Given the description of an element on the screen output the (x, y) to click on. 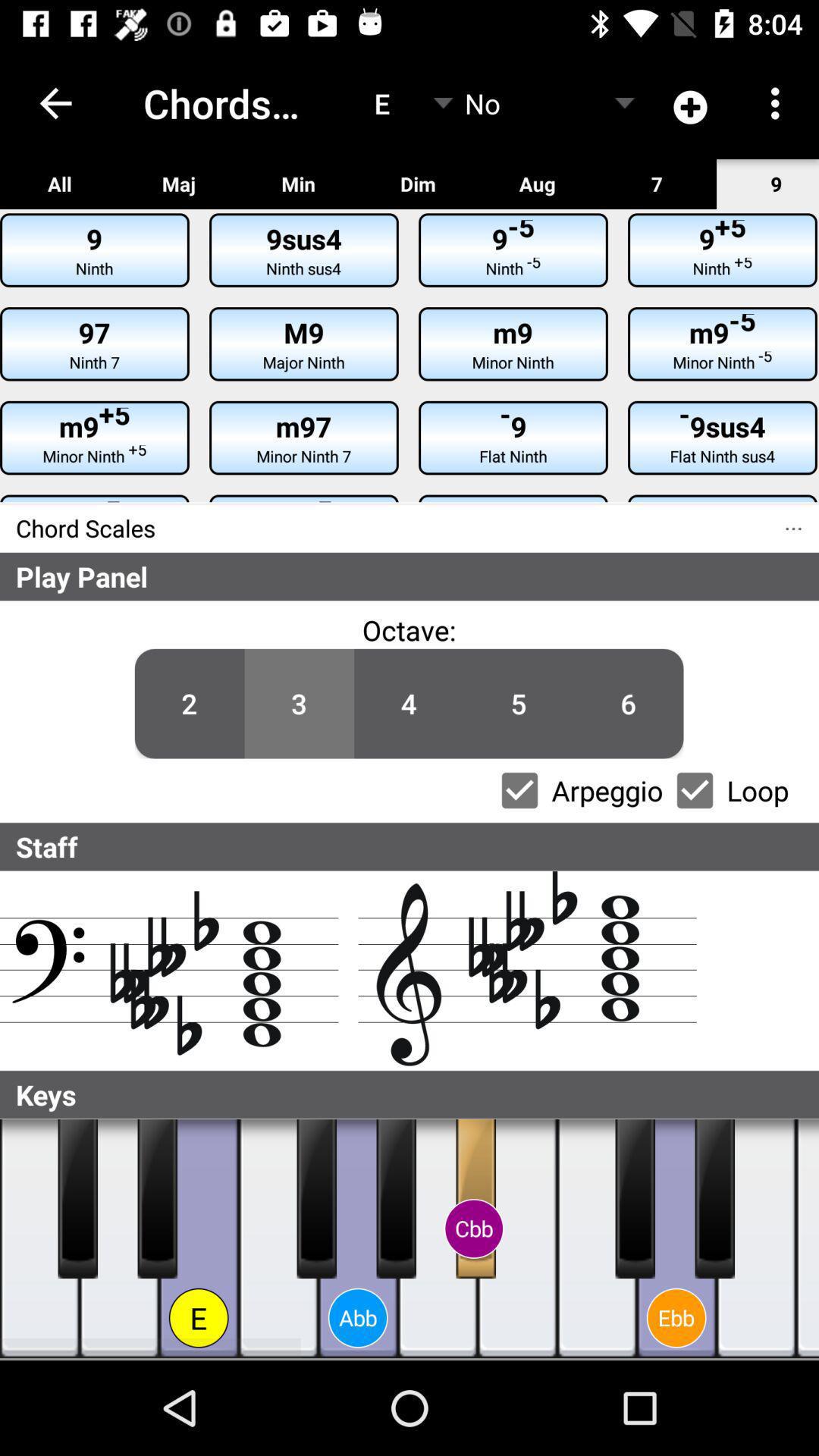
turn on the item to the right of 5 icon (628, 703)
